Given the description of an element on the screen output the (x, y) to click on. 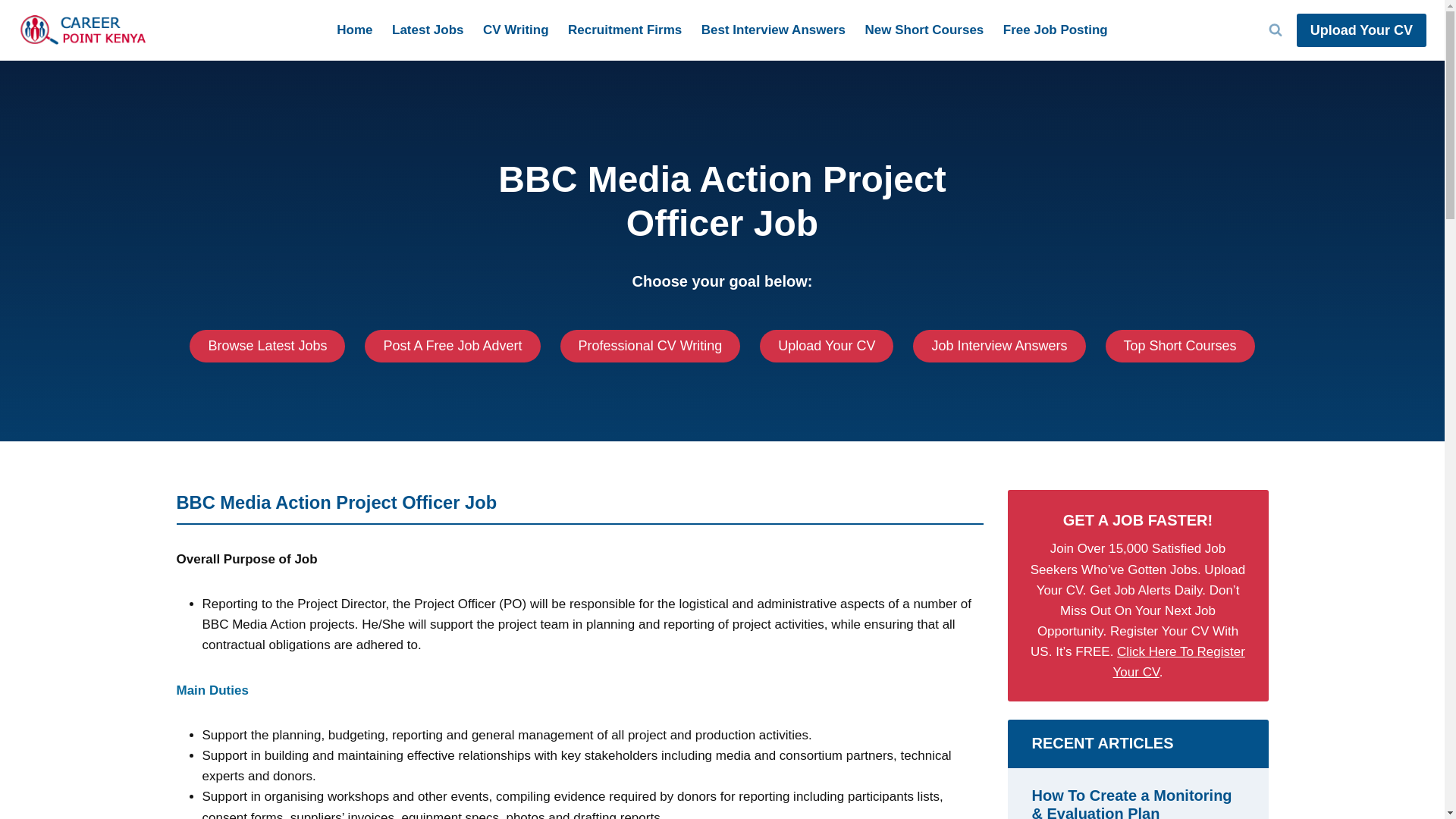
Top Short Courses (1180, 346)
Click Here To Register Your CV (1178, 661)
Latest Jobs (427, 30)
Home (354, 30)
Job Interview Answers (998, 346)
Free Job Posting (1054, 30)
Recruitment Firms (624, 30)
Browse Latest Jobs (267, 346)
Upload Your CV (826, 346)
Post A Free Job Advert (452, 346)
